Given the description of an element on the screen output the (x, y) to click on. 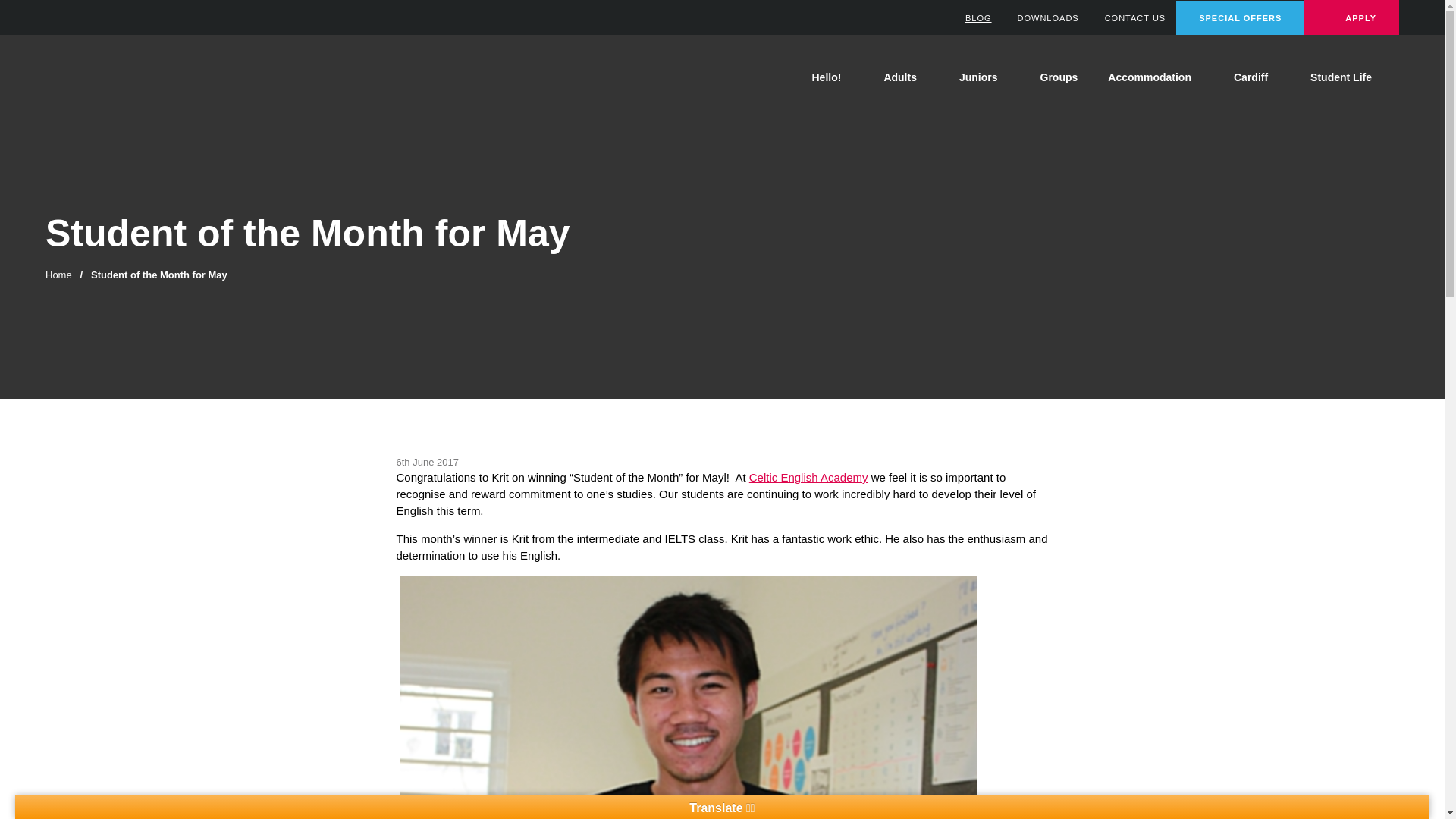
Find us on Facebook (48, 15)
Celtic English Academy (133, 76)
Find us on Instagram (107, 15)
Hello! (831, 77)
APPLY (1351, 17)
CONTACT US (1127, 18)
Find us on Facebook (48, 15)
Adults (906, 77)
Find us on LinkedIn (87, 15)
Find us on Twitter (68, 15)
